Given the description of an element on the screen output the (x, y) to click on. 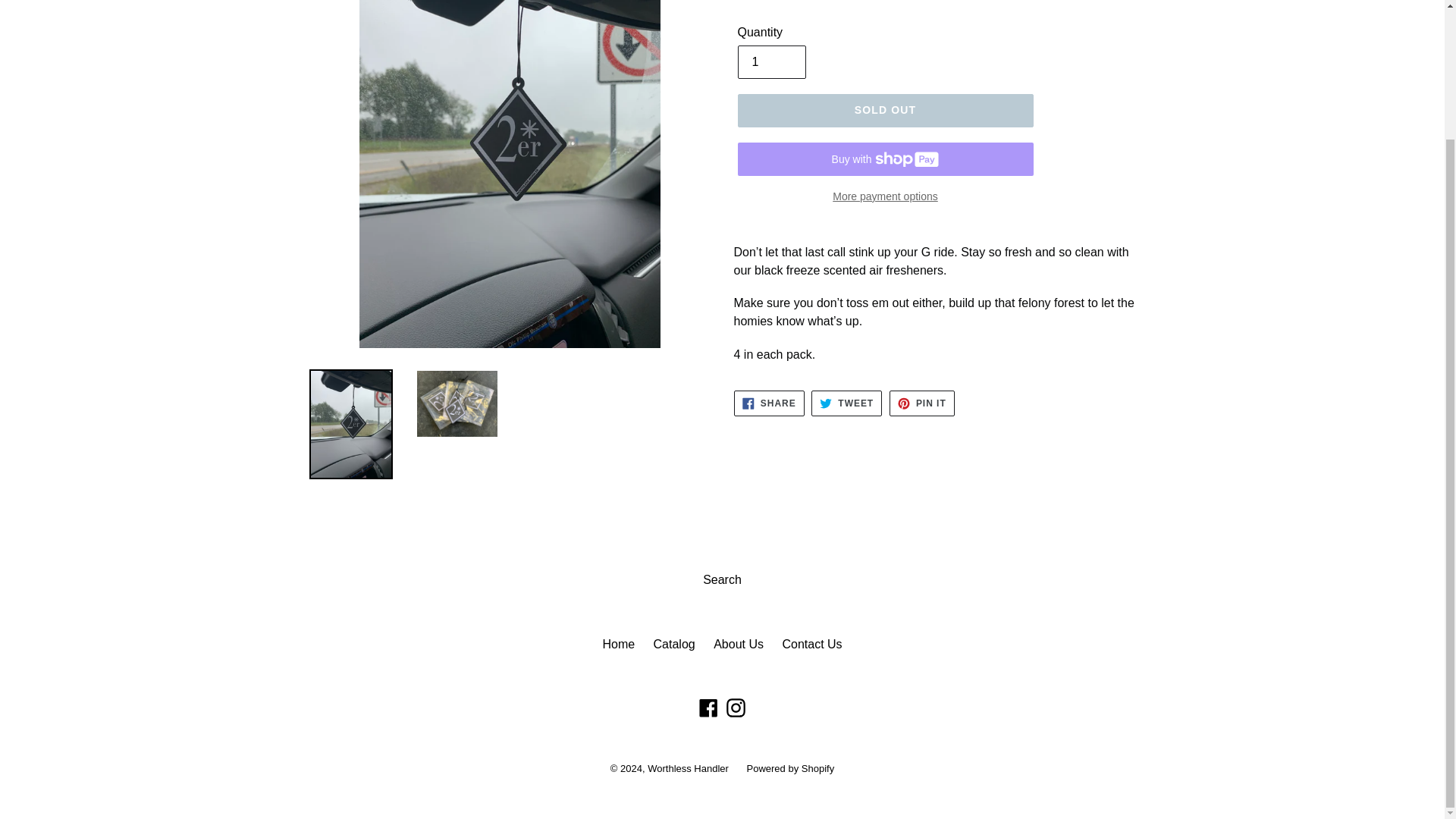
Worthless Handler  on Facebook (708, 706)
1 (770, 61)
Instagram (735, 706)
Facebook (708, 706)
Contact Us (811, 644)
Catalog (846, 403)
Tweet on Twitter (674, 644)
Search (846, 403)
